Given the description of an element on the screen output the (x, y) to click on. 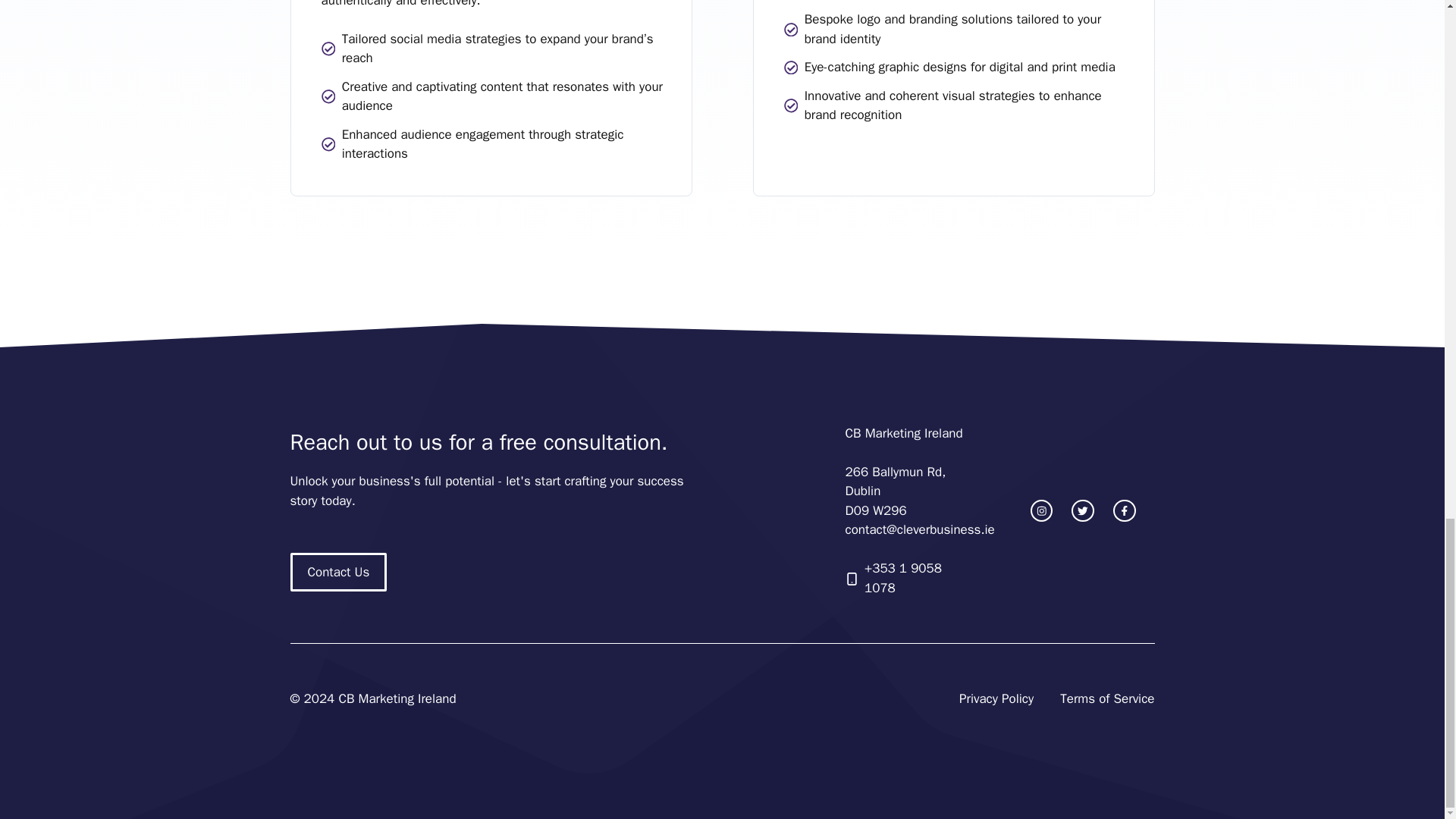
Contact Us (338, 572)
Terms of Service (1106, 699)
Privacy Policy (996, 699)
